Given the description of an element on the screen output the (x, y) to click on. 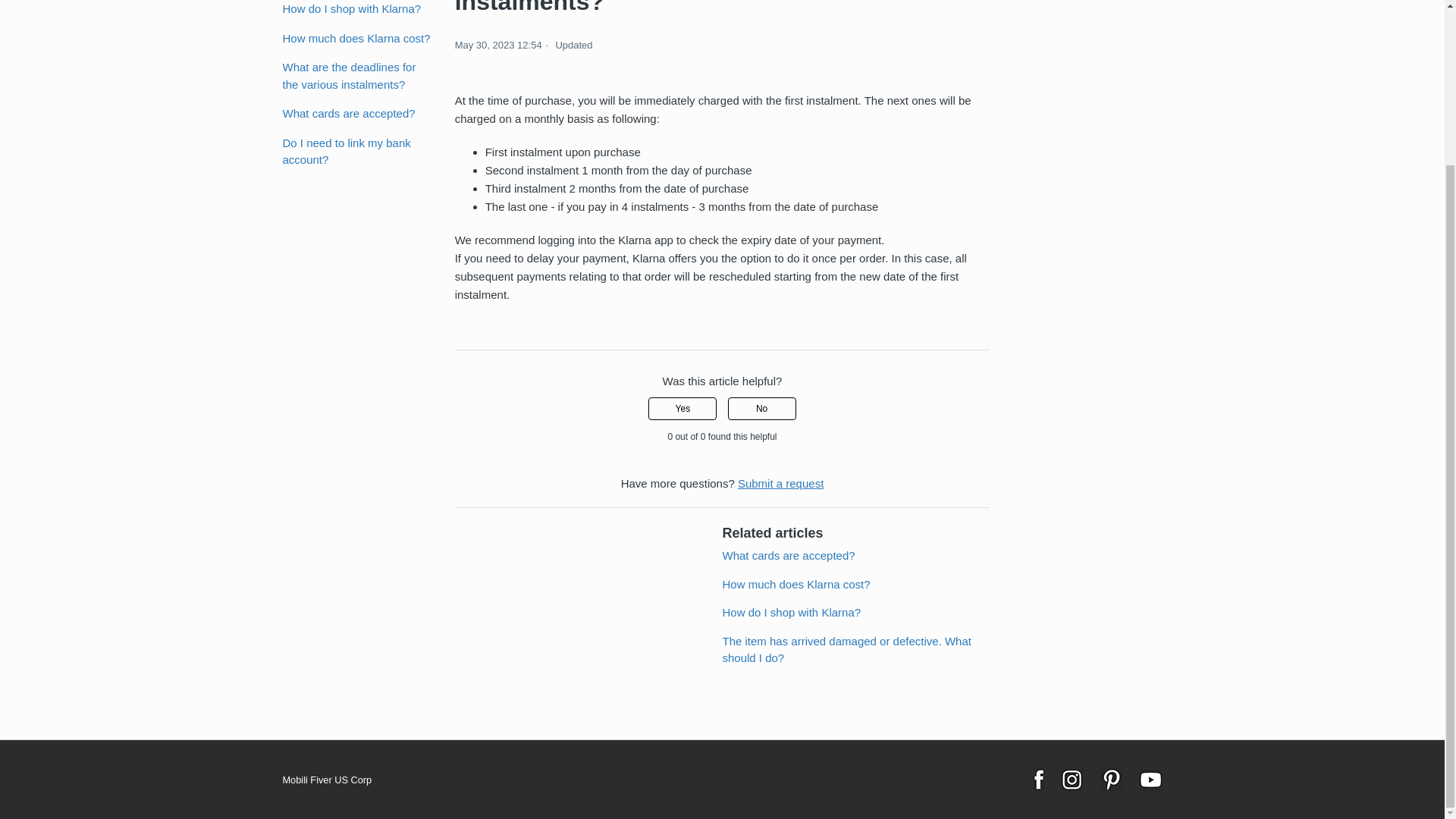
The item has arrived damaged or defective. What should I do? (846, 649)
How much does Klarna cost? (795, 584)
What are the deadlines for the various instalments? (356, 75)
Yes (681, 408)
How do I shop with Klarna? (356, 9)
No (762, 408)
2023-05-30T12:54:35Z (497, 44)
What cards are accepted? (356, 113)
What are the deadlines for the various instalments? (722, 9)
What cards are accepted? (788, 554)
